Given the description of an element on the screen output the (x, y) to click on. 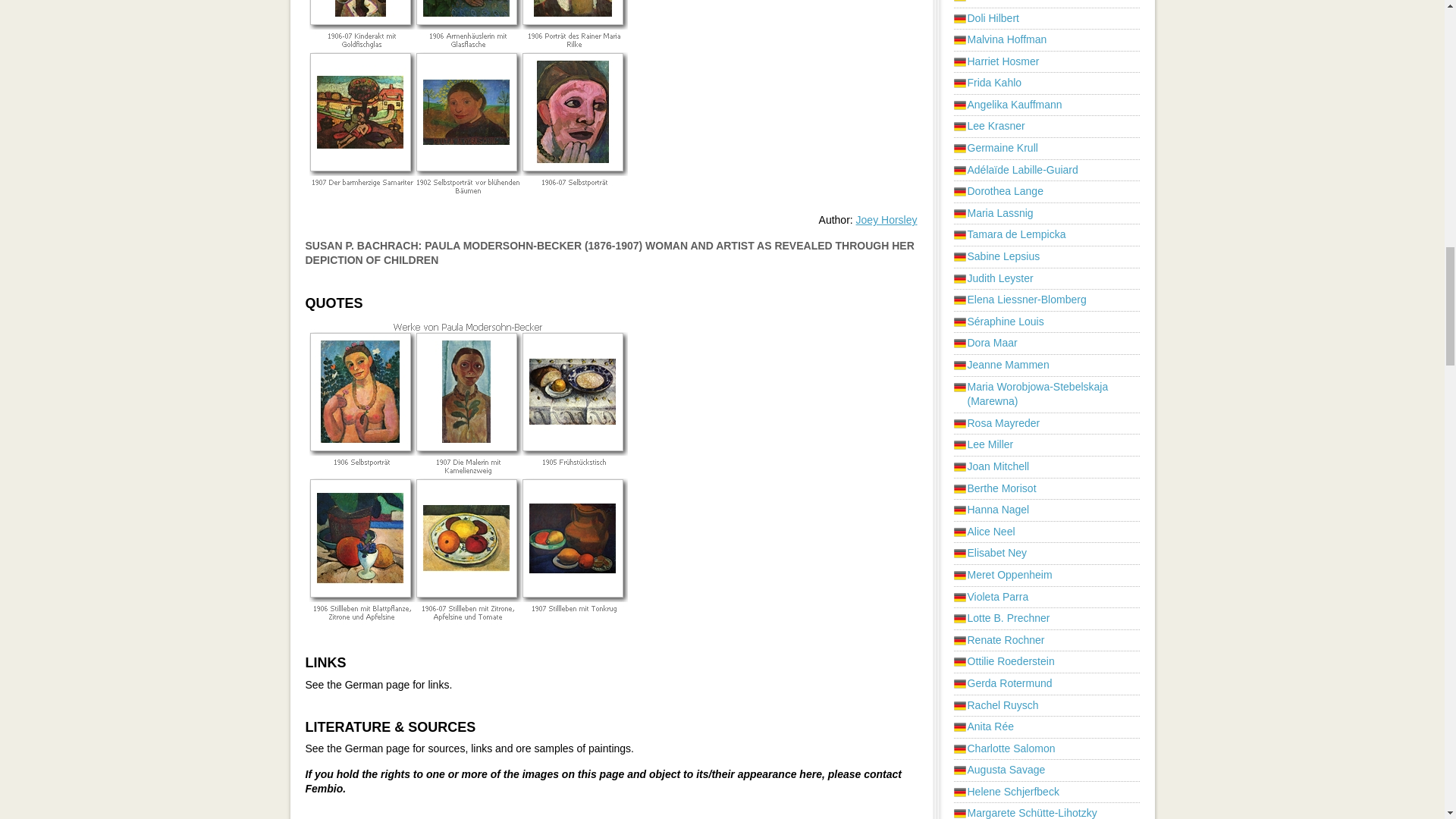
Werke von Paula Modersohn-Becker (467, 472)
Joey Horsley (886, 219)
Werke von Paula Modersohn-Becker (467, 101)
